Given the description of an element on the screen output the (x, y) to click on. 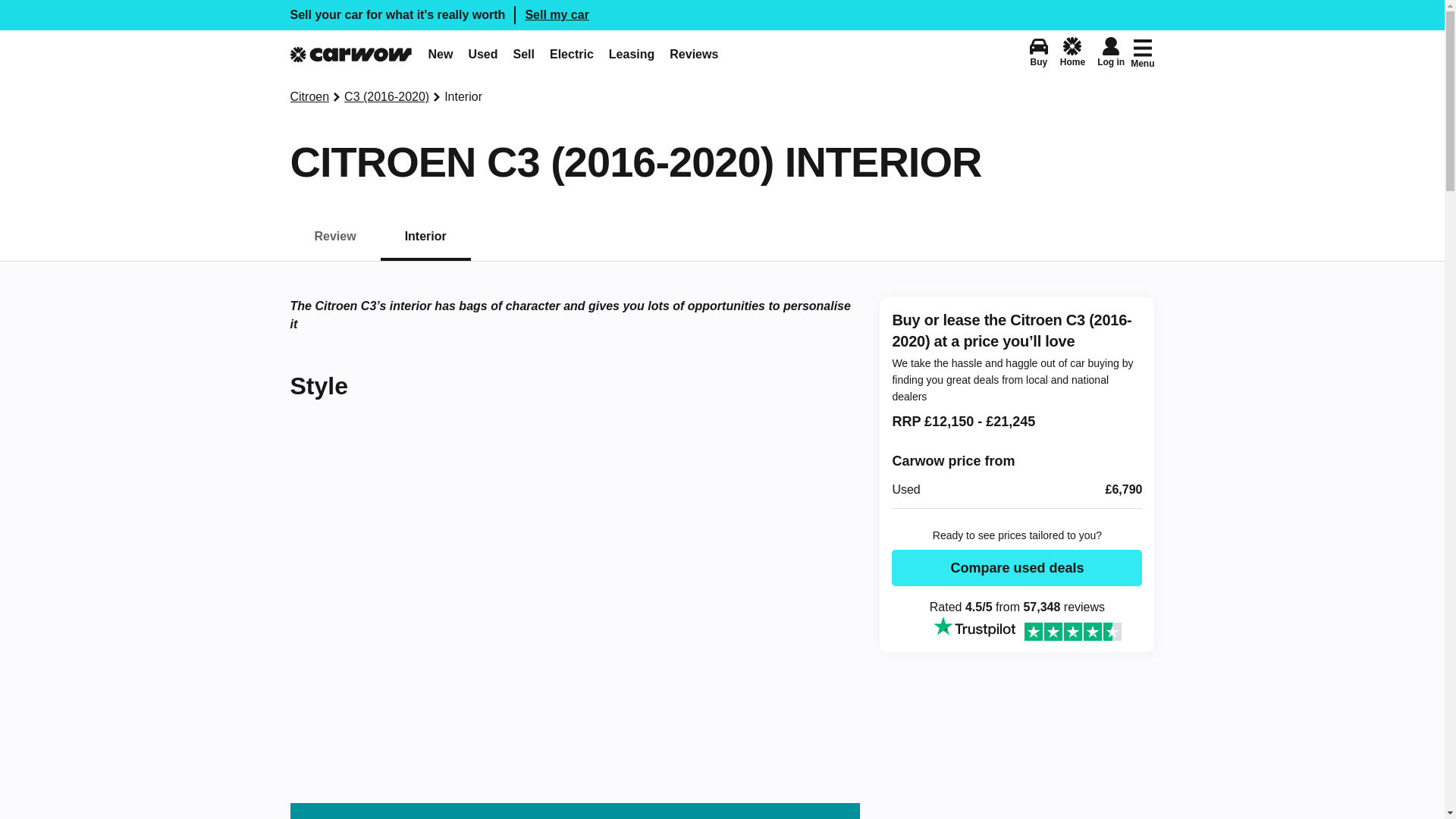
Reviews (693, 54)
Leasing (379, 236)
Electric (721, 15)
Used (631, 54)
